Given the description of an element on the screen output the (x, y) to click on. 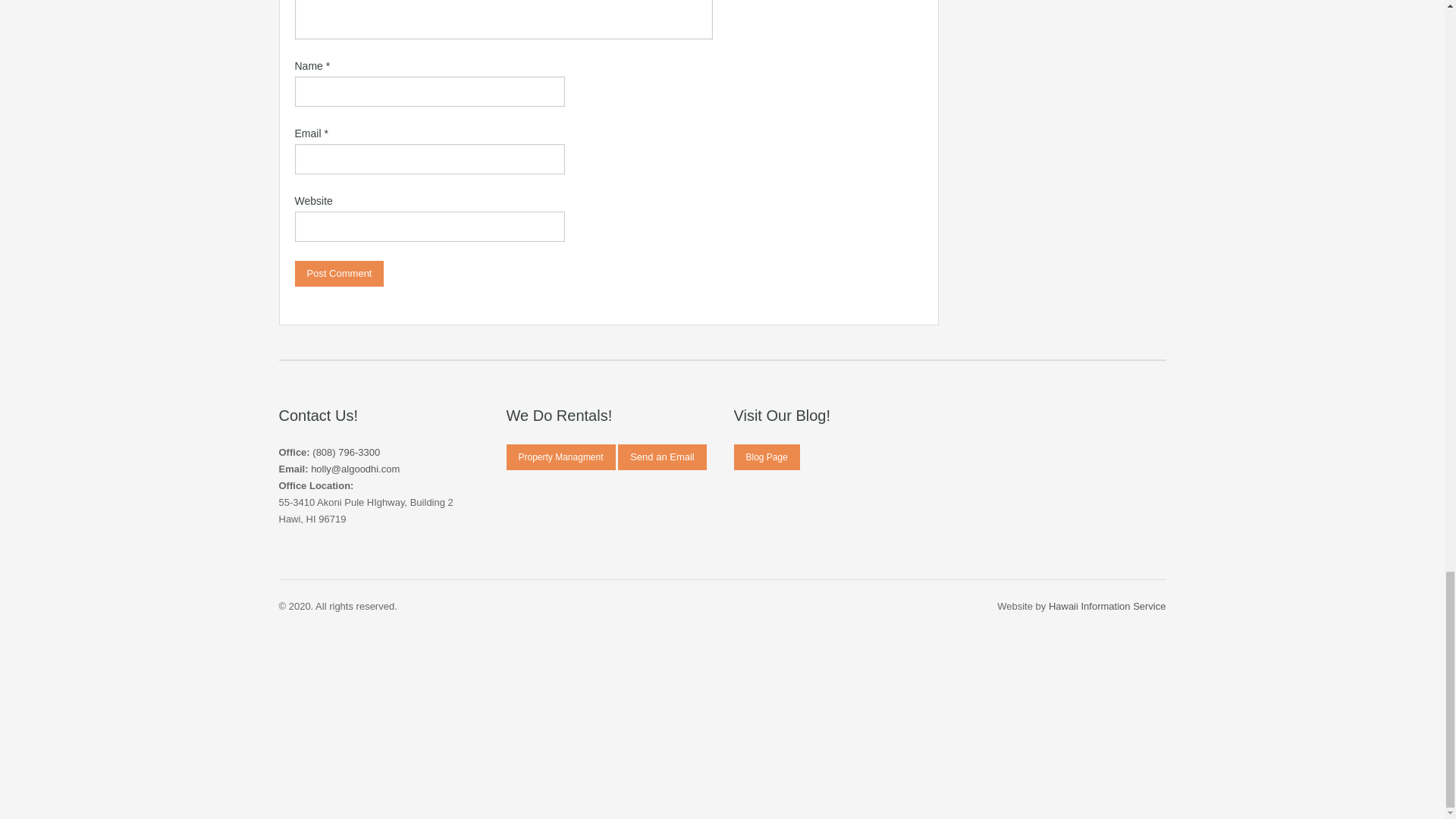
Post Comment (339, 273)
